Given the description of an element on the screen output the (x, y) to click on. 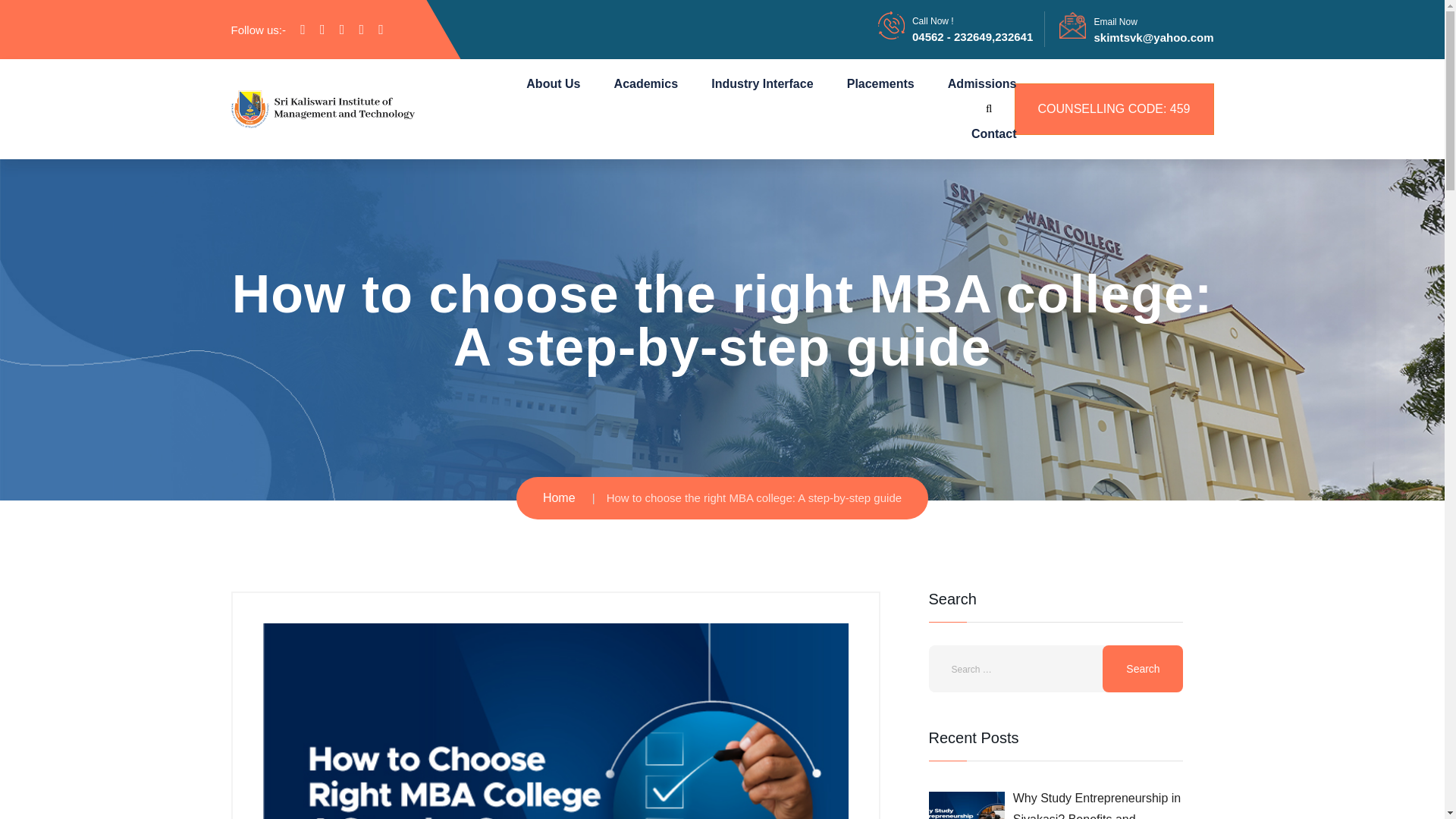
Contact (993, 133)
04562 - 232649,232641 (972, 36)
Placements (880, 83)
Sivakasi (321, 108)
Admissions (981, 83)
Search (1142, 668)
Search (1142, 668)
About Us (552, 83)
Academics (646, 83)
COUNSELLING CODE: 459 (1114, 109)
Industry Interface (761, 83)
